Given the description of an element on the screen output the (x, y) to click on. 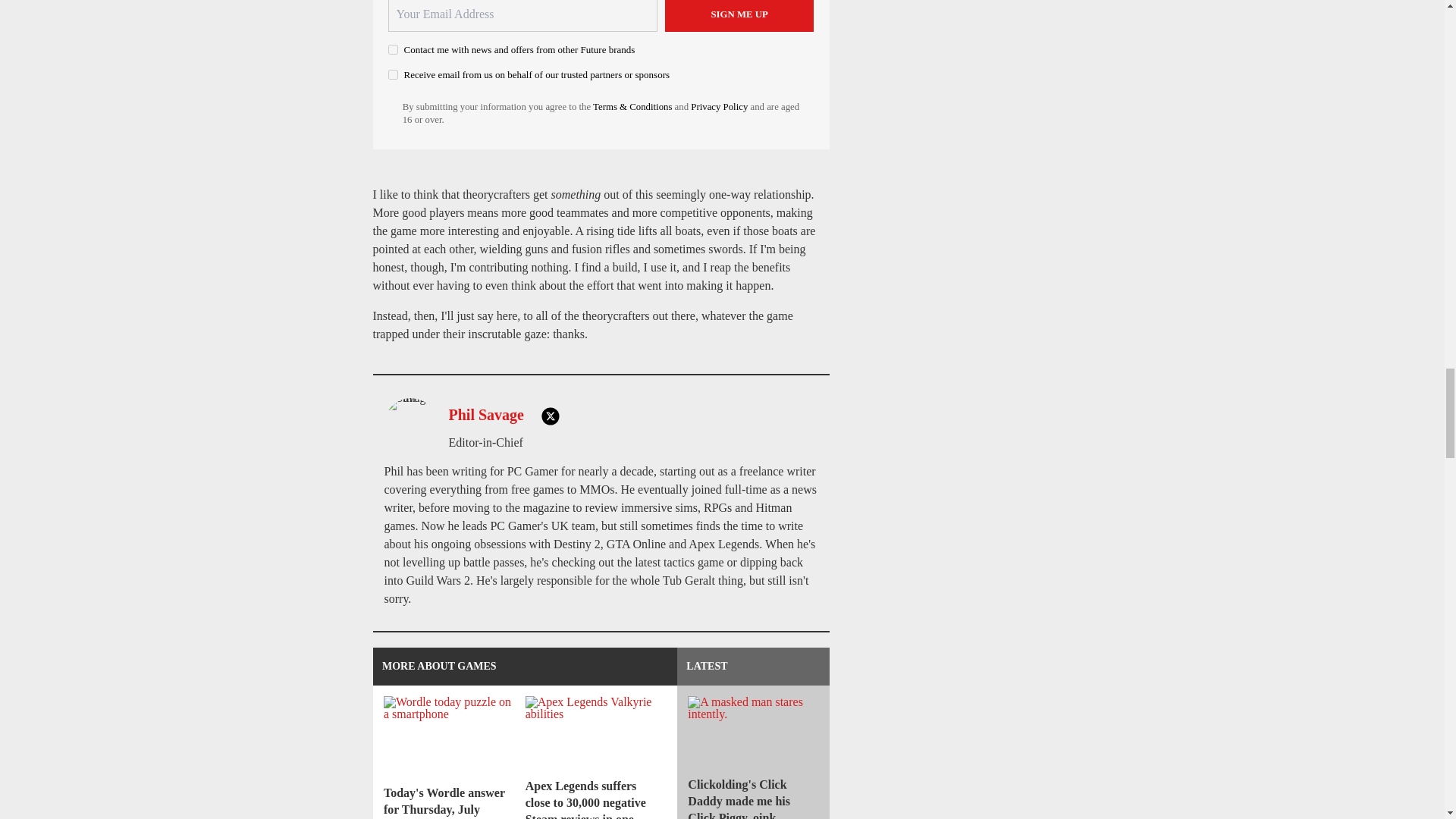
on (392, 74)
on (392, 49)
Sign me up (739, 15)
